Given the description of an element on the screen output the (x, y) to click on. 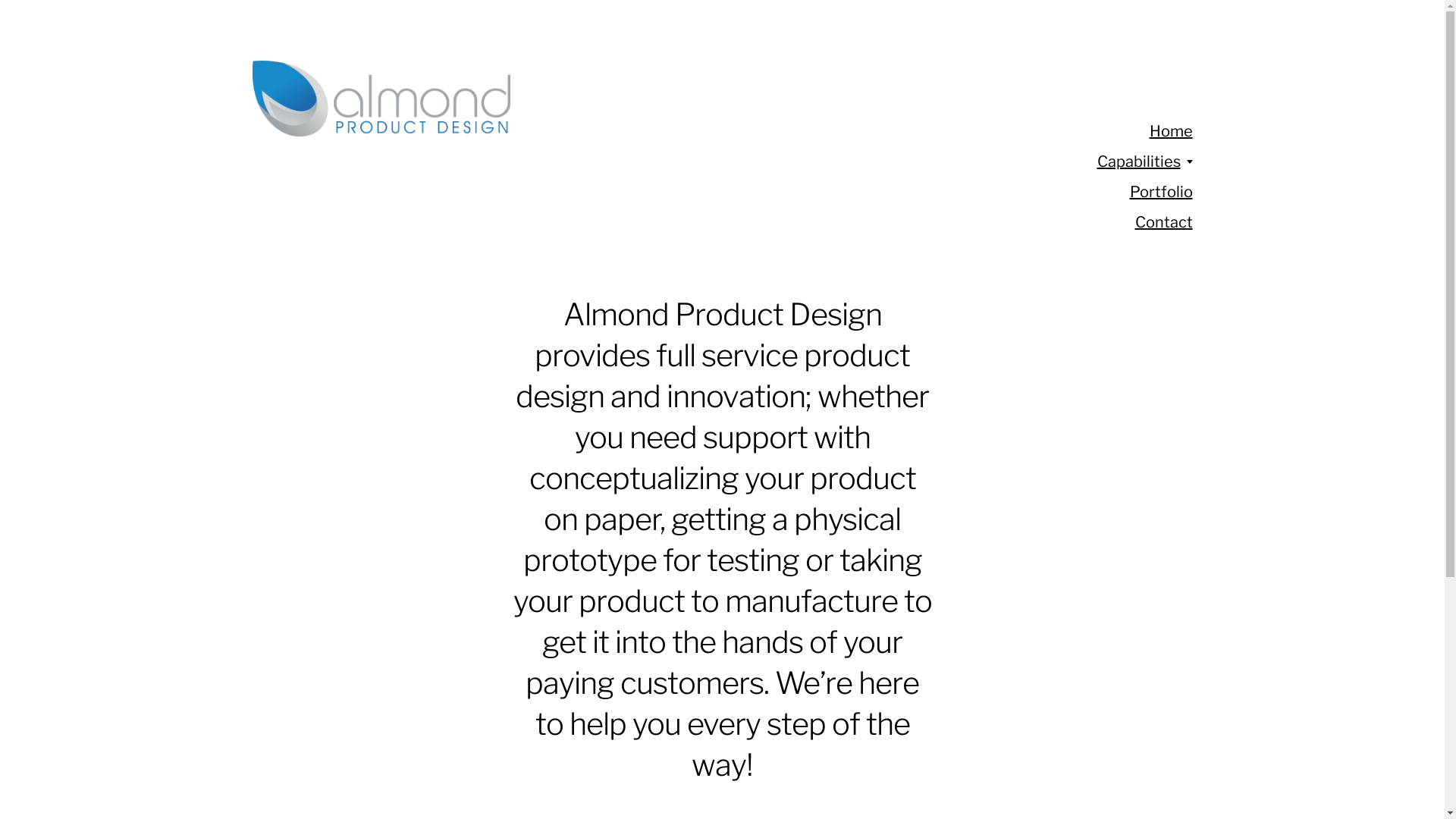
Contact Element type: text (1163, 221)
Capabilities Element type: text (1137, 161)
Home Element type: text (1170, 130)
Portfolio Element type: text (1160, 191)
Almond Product Design Inc Element type: hover (653, 98)
